Given the description of an element on the screen output the (x, y) to click on. 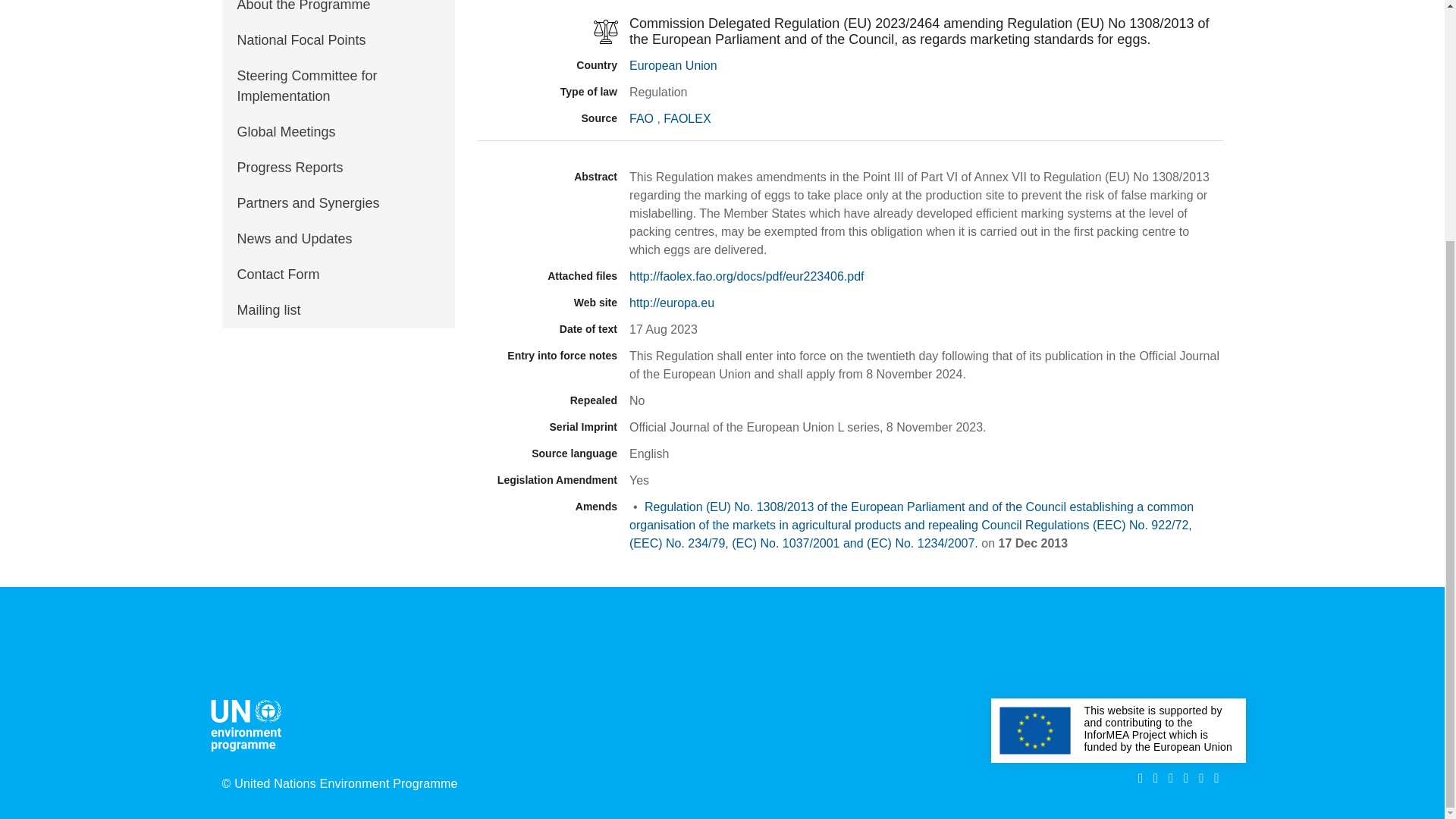
Legislation (547, 31)
Home (248, 723)
Click to read this legislation (910, 524)
